Given the description of an element on the screen output the (x, y) to click on. 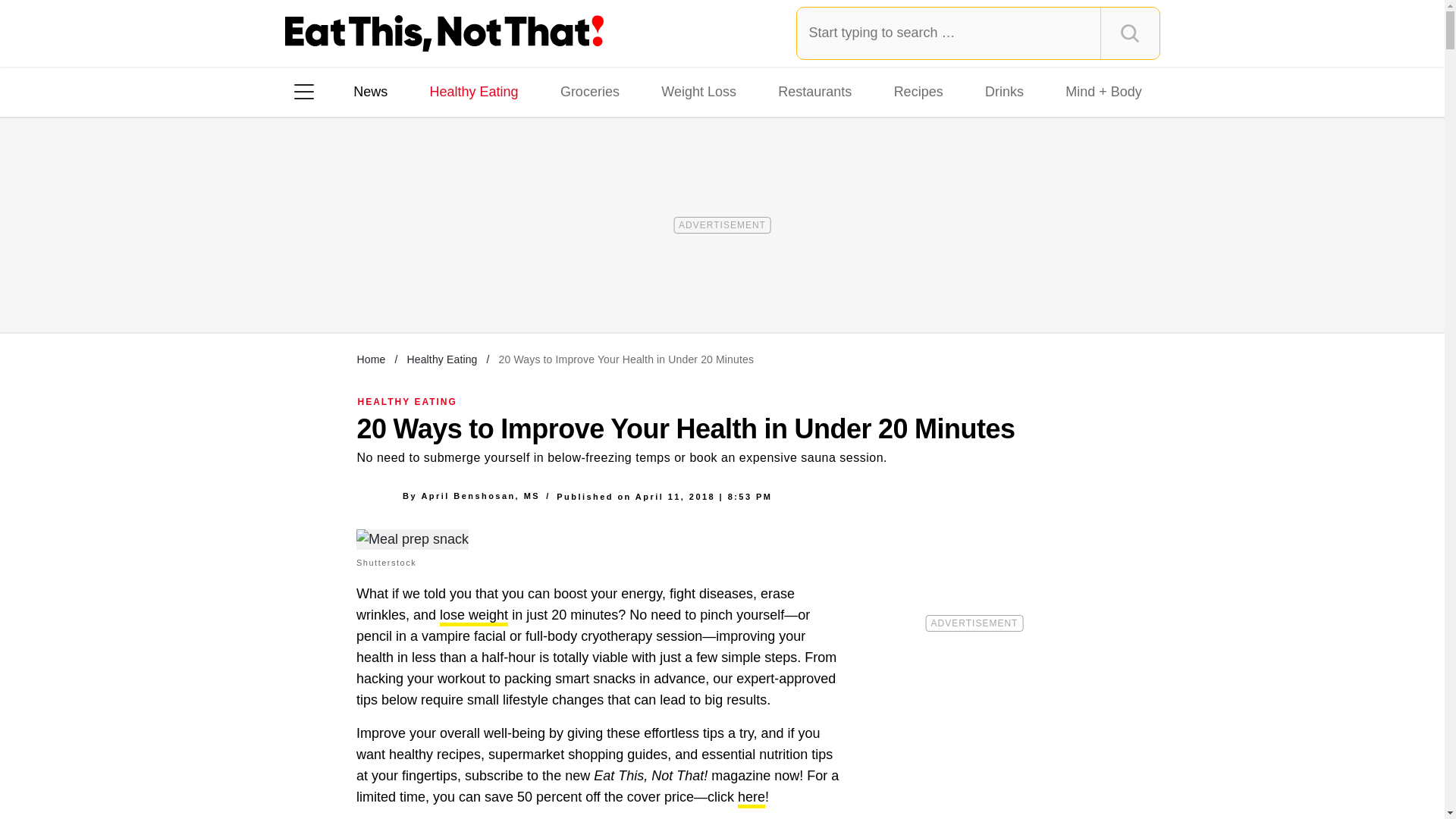
Pinterest (443, 287)
Groceries (590, 91)
Home (370, 358)
News (370, 91)
Type and press Enter to search (978, 32)
Drinks (1003, 91)
Pinterest (443, 287)
Eat This Not That Homepage (444, 33)
Restaurants (814, 91)
Weight Loss (698, 91)
